Given the description of an element on the screen output the (x, y) to click on. 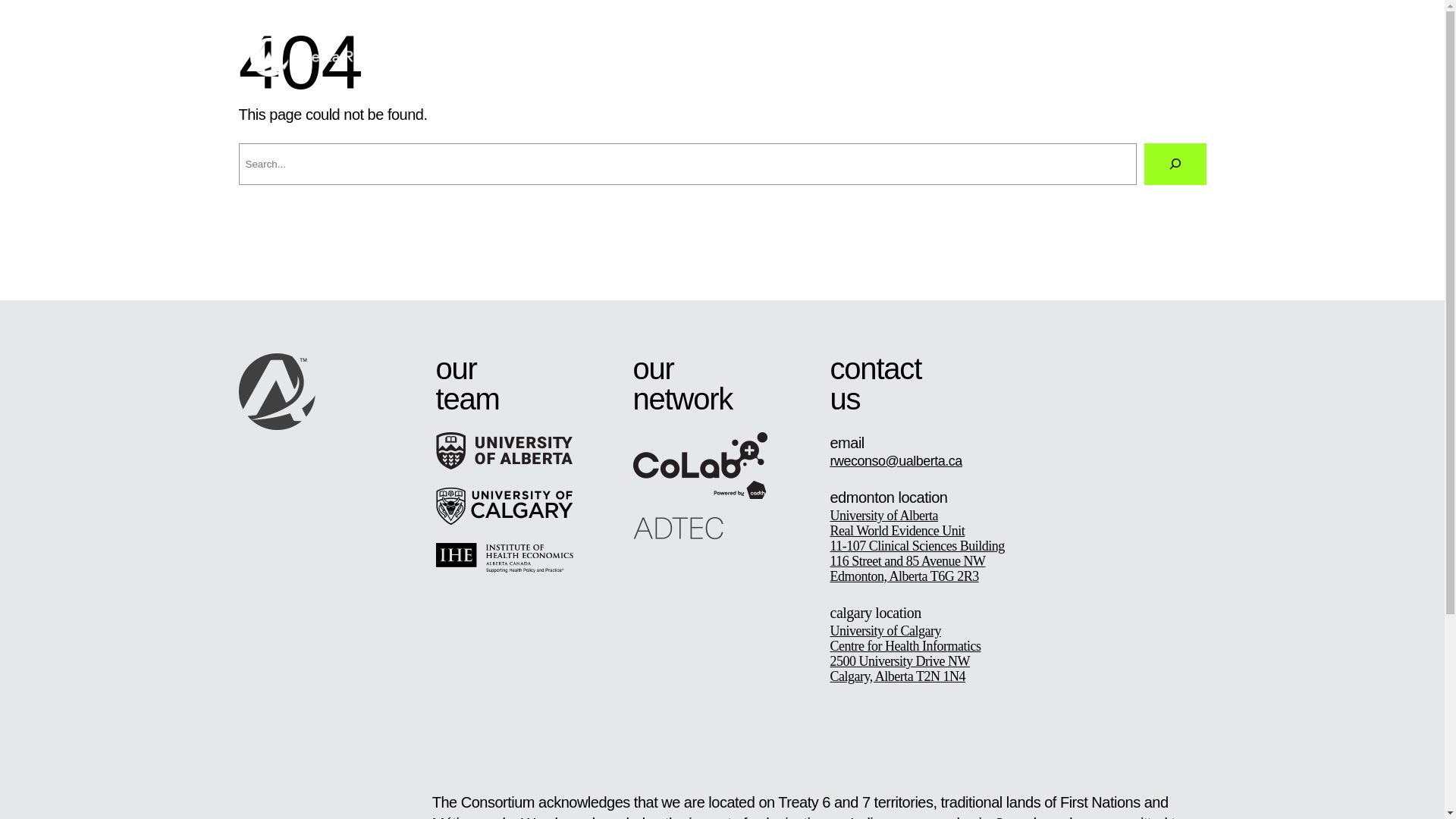
rweconso@ualberta.ca Element type: text (895, 460)
